Given the description of an element on the screen output the (x, y) to click on. 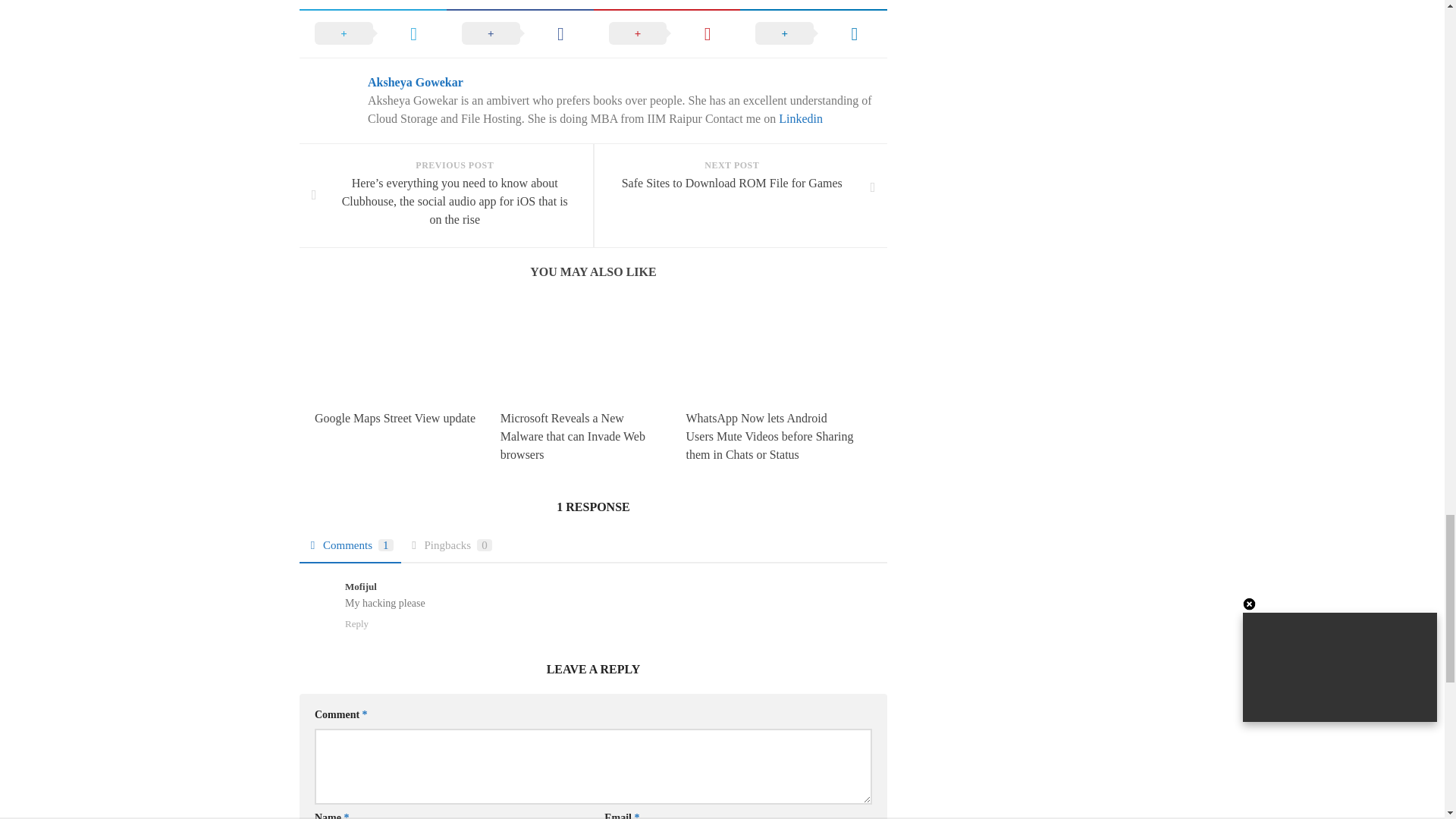
Linkedin (800, 118)
Aksheya Gowekar (415, 82)
